Given the description of an element on the screen output the (x, y) to click on. 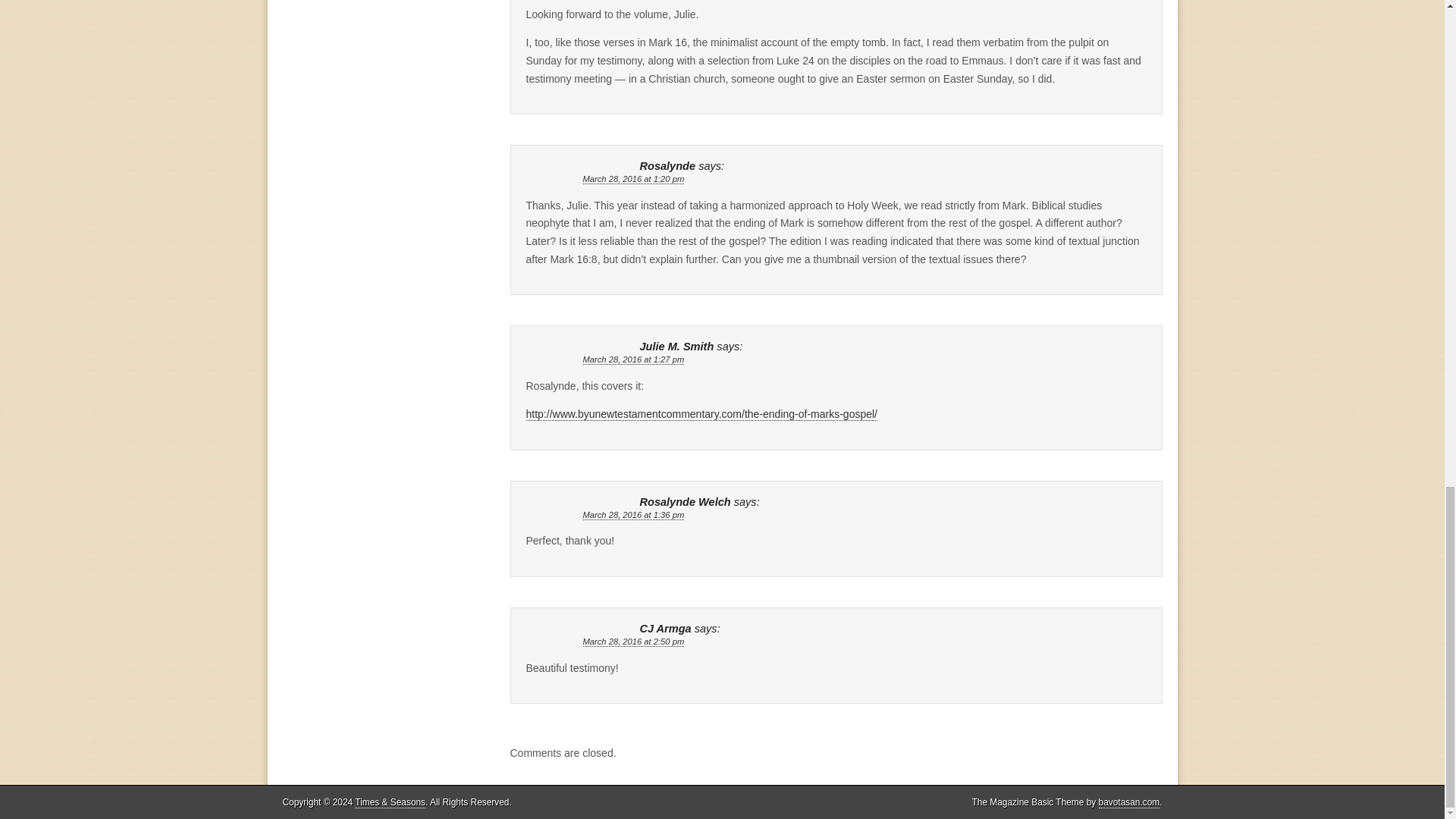
March 28, 2016 at 1:27 pm (633, 359)
March 28, 2016 at 1:20 pm (633, 179)
March 28, 2016 at 1:36 pm (633, 515)
bavotasan.com (1129, 802)
March 28, 2016 at 2:50 pm (633, 642)
